Given the description of an element on the screen output the (x, y) to click on. 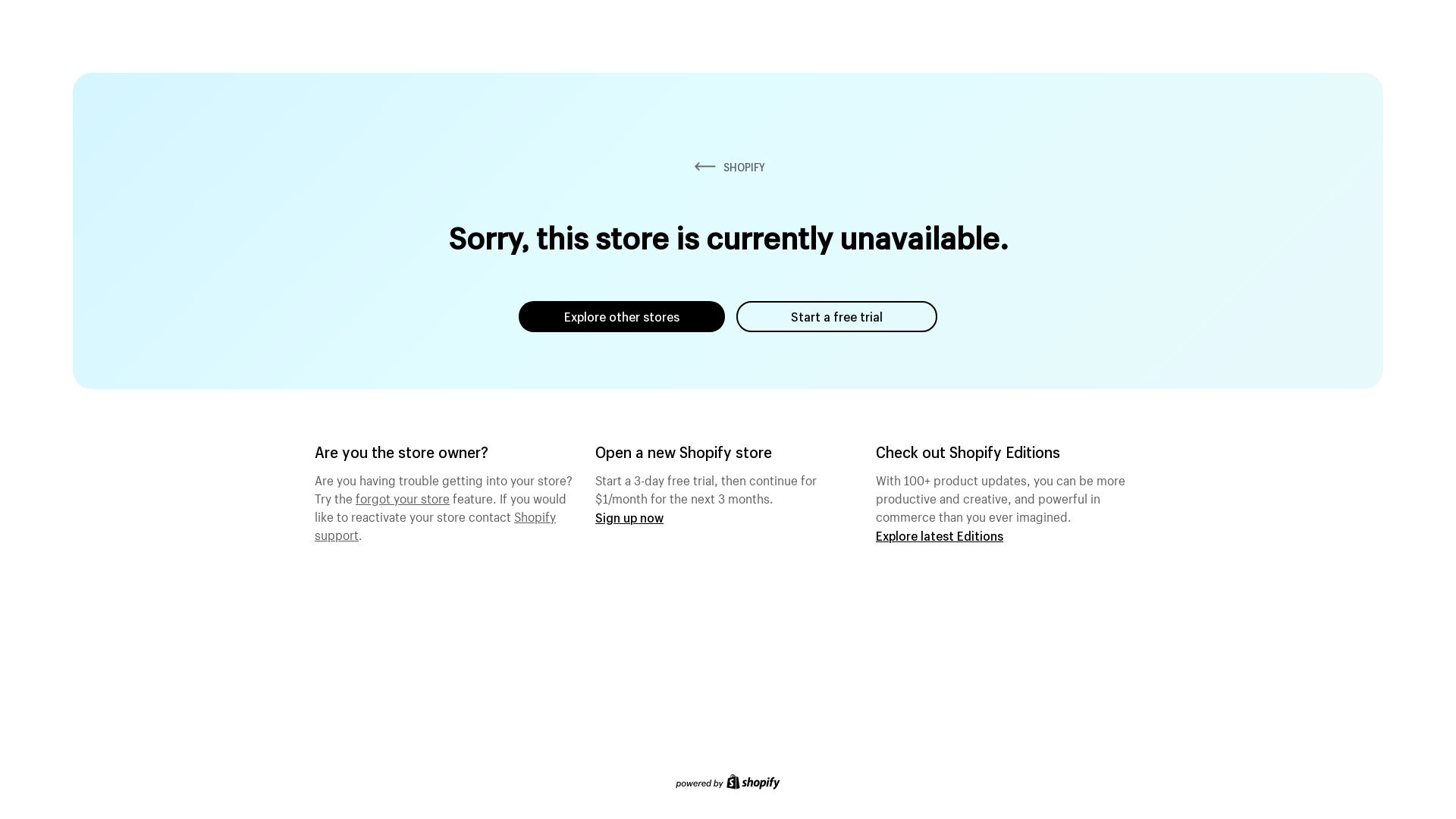
Explore latest Editions Element type: text (939, 535)
Explore other stores Element type: text (621, 316)
SHOPIFY Element type: text (727, 167)
Start a free trial Element type: text (836, 316)
forgot your store Element type: text (402, 496)
Sign up now Element type: text (629, 517)
Shopify support Element type: text (434, 523)
